Given the description of an element on the screen output the (x, y) to click on. 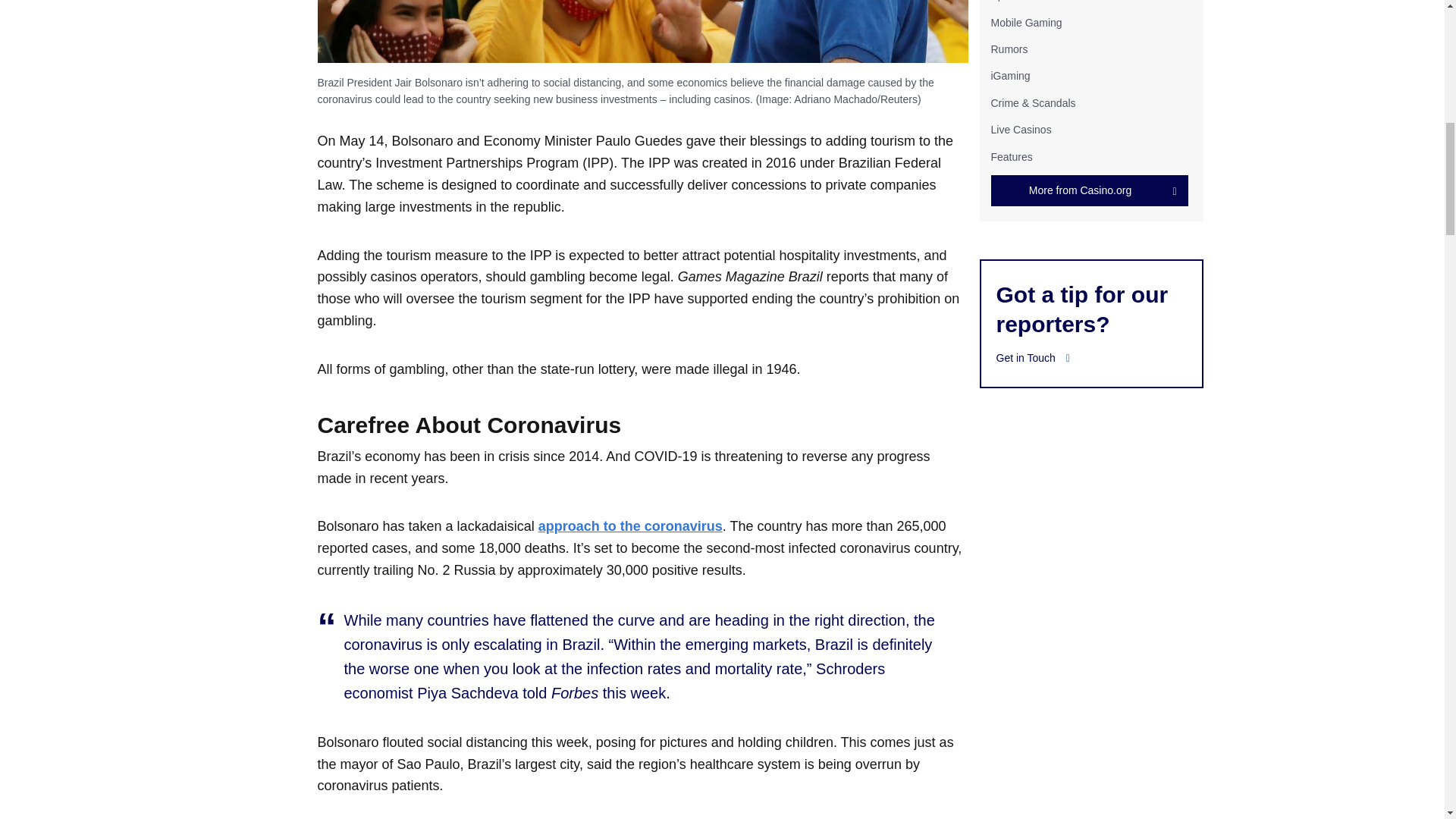
Features (1011, 155)
approach to the coronavirus (630, 525)
Live Casinos (1020, 129)
Sports (1005, 0)
iGaming (1009, 75)
Mobile Gaming (1025, 22)
Rumors (1008, 49)
